Given the description of an element on the screen output the (x, y) to click on. 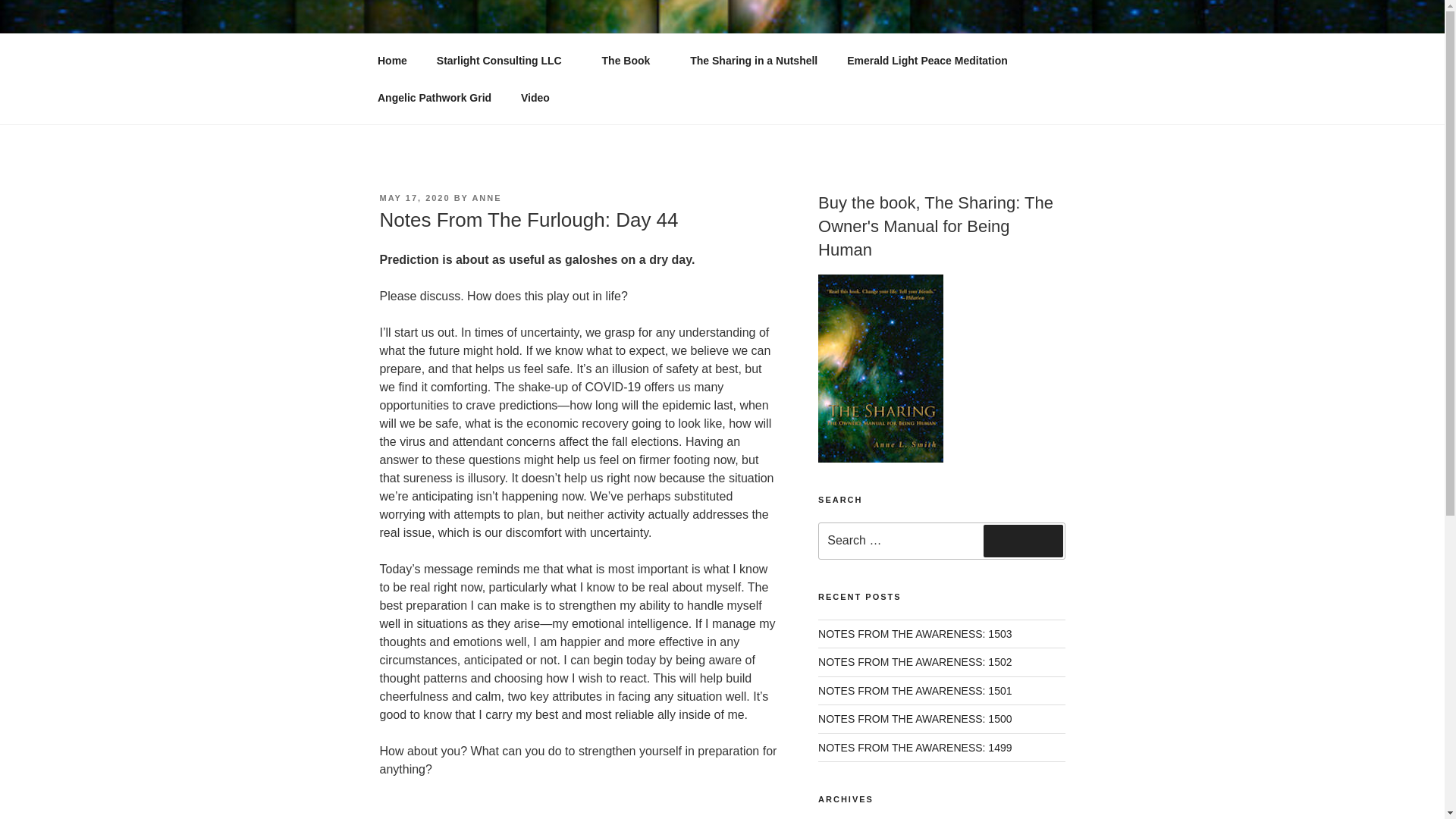
NOTES FROM THE AWARENESS: 1502 (914, 662)
Home (392, 60)
ANNE (485, 197)
Starlight Consulting LLC (504, 60)
NOTES FROM THE AWARENESS: 1503 (914, 633)
The Sharing in a Nutshell (754, 60)
Search (1023, 540)
Video (535, 97)
MAY 17, 2020 (413, 197)
Emerald Light Peace Meditation (928, 60)
STARLIGHT CONSULTING LLC (605, 52)
Angelic Pathwork Grid (433, 97)
The Book (631, 60)
NOTES FROM THE AWARENESS: 1501 (914, 690)
